Given the description of an element on the screen output the (x, y) to click on. 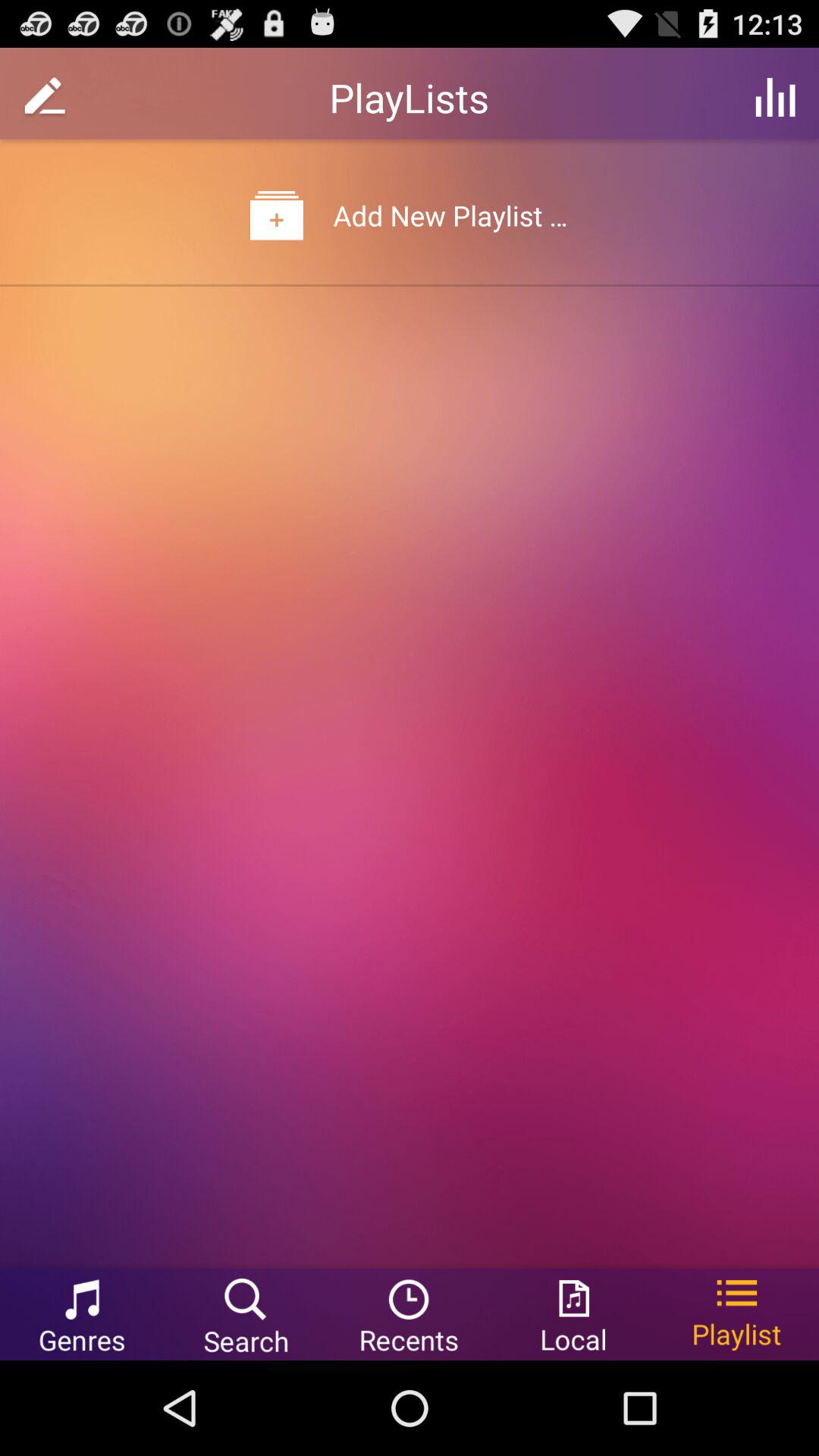
choose app to the right of playlists (775, 96)
